Given the description of an element on the screen output the (x, y) to click on. 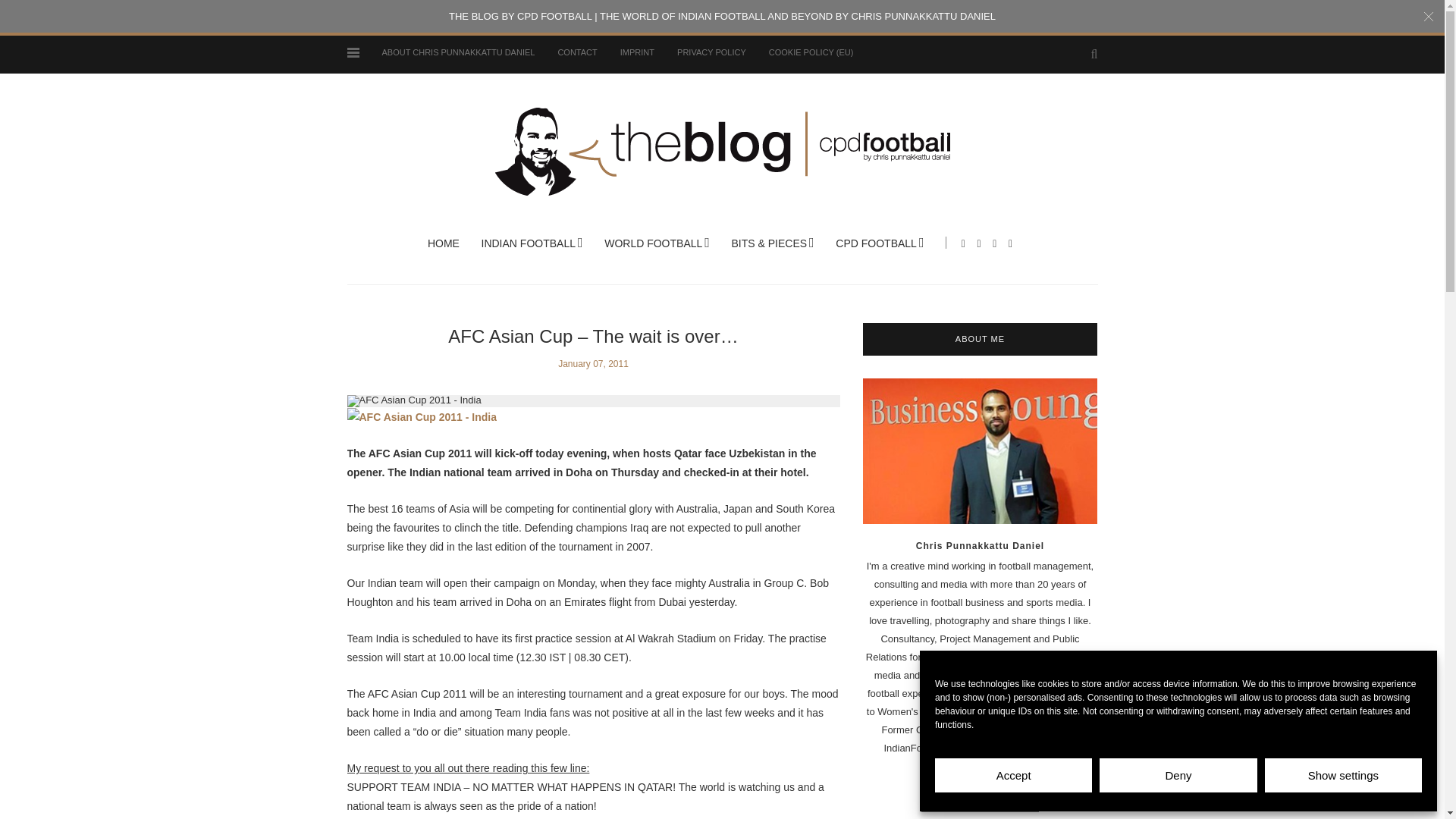
AFC Asian Cup - The wait is over... (414, 399)
Show settings (1343, 775)
Accept (1013, 775)
AFC Asian Cup 2011 - India (422, 416)
Deny (1177, 775)
